Given the description of an element on the screen output the (x, y) to click on. 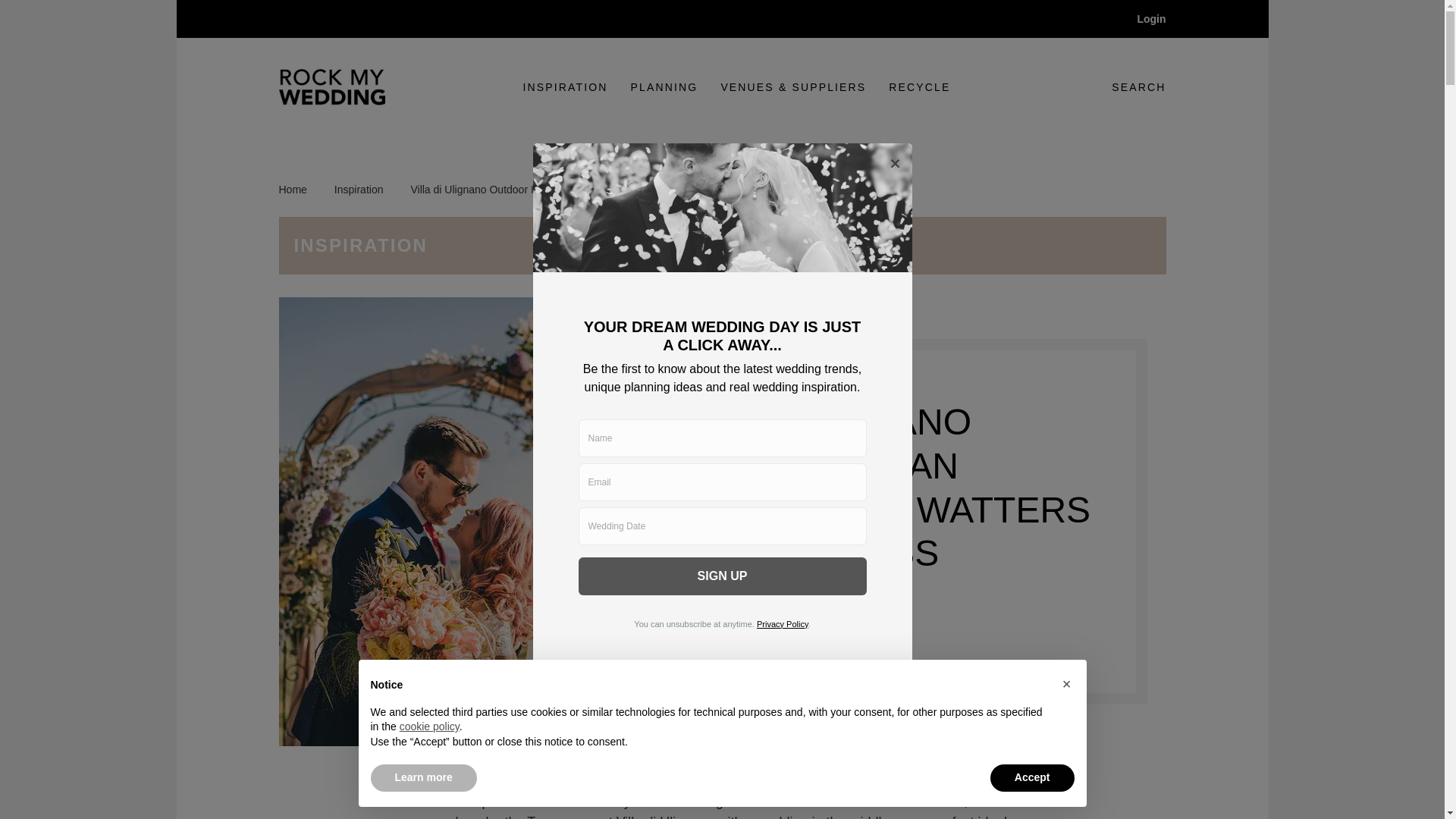
Login (1140, 18)
PLANNING (664, 87)
Home (301, 189)
Claire Penn (769, 662)
SHARE (780, 618)
FAVOURITE (1126, 86)
RECYCLE (684, 618)
INSPIRATION (919, 87)
Inspiration (565, 87)
